Given the description of an element on the screen output the (x, y) to click on. 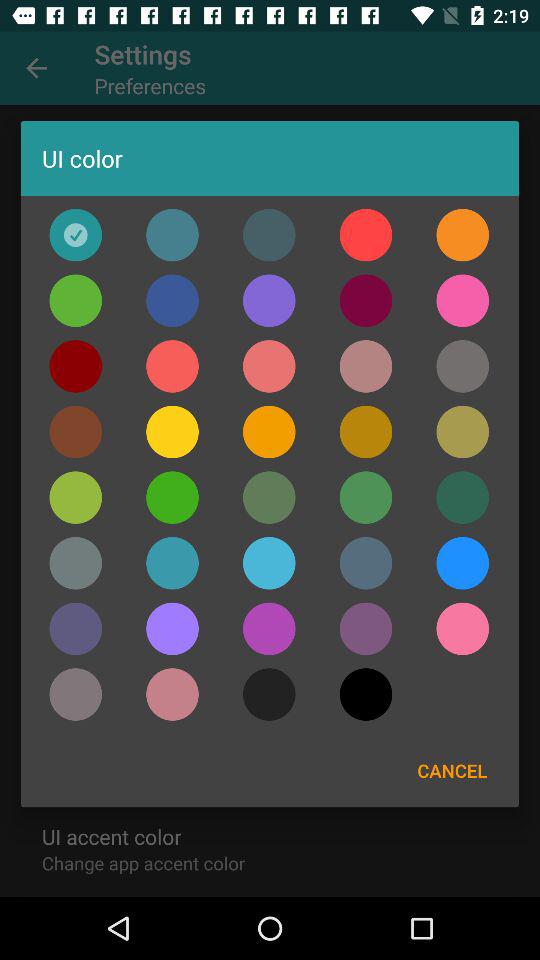
choose a ui color (269, 234)
